Given the description of an element on the screen output the (x, y) to click on. 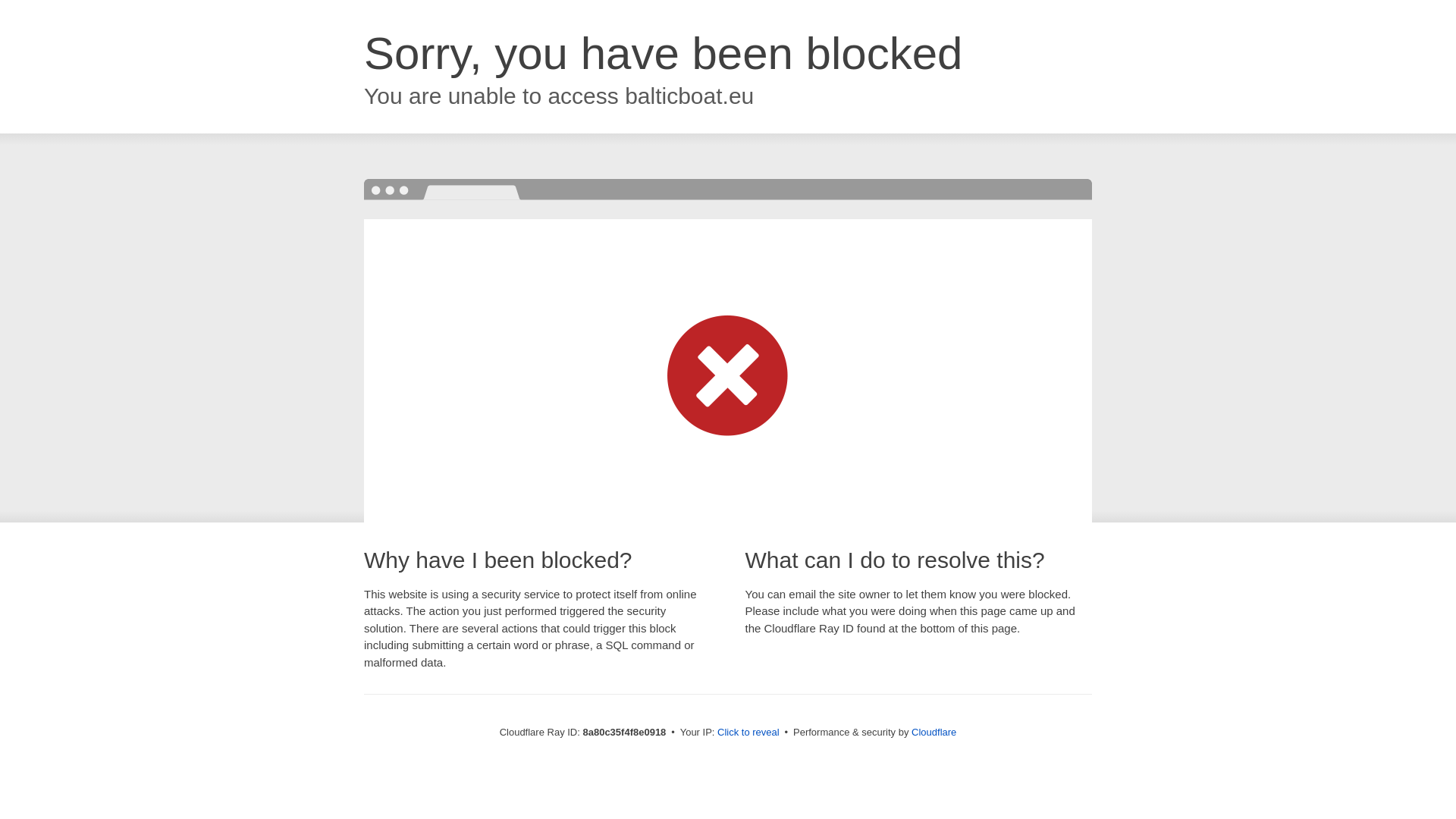
Click to reveal (747, 732)
Cloudflare (933, 731)
